Given the description of an element on the screen output the (x, y) to click on. 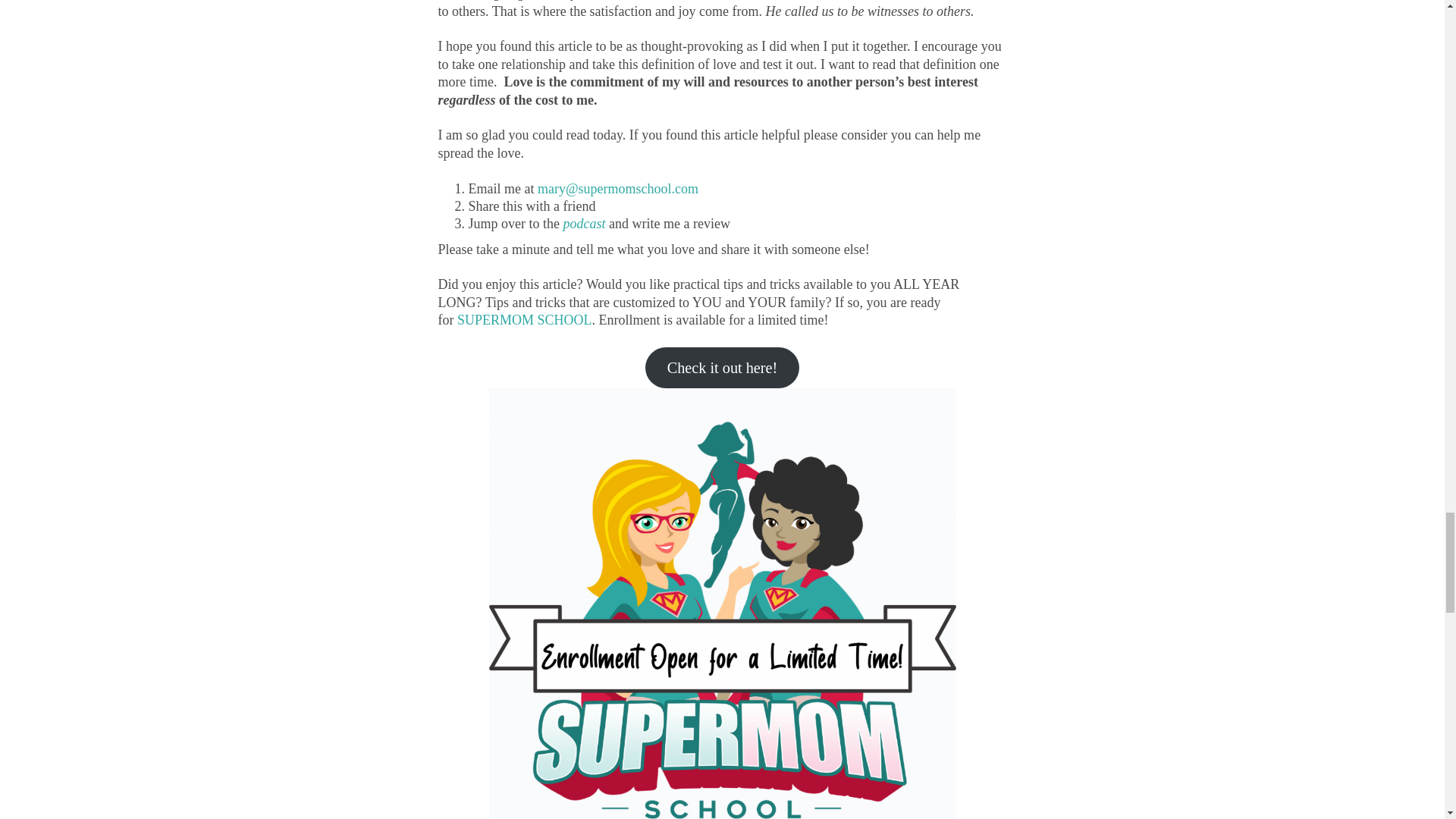
SUPERMOM SCHOOL (524, 319)
Check it out here! (722, 367)
podcast (583, 223)
